Given the description of an element on the screen output the (x, y) to click on. 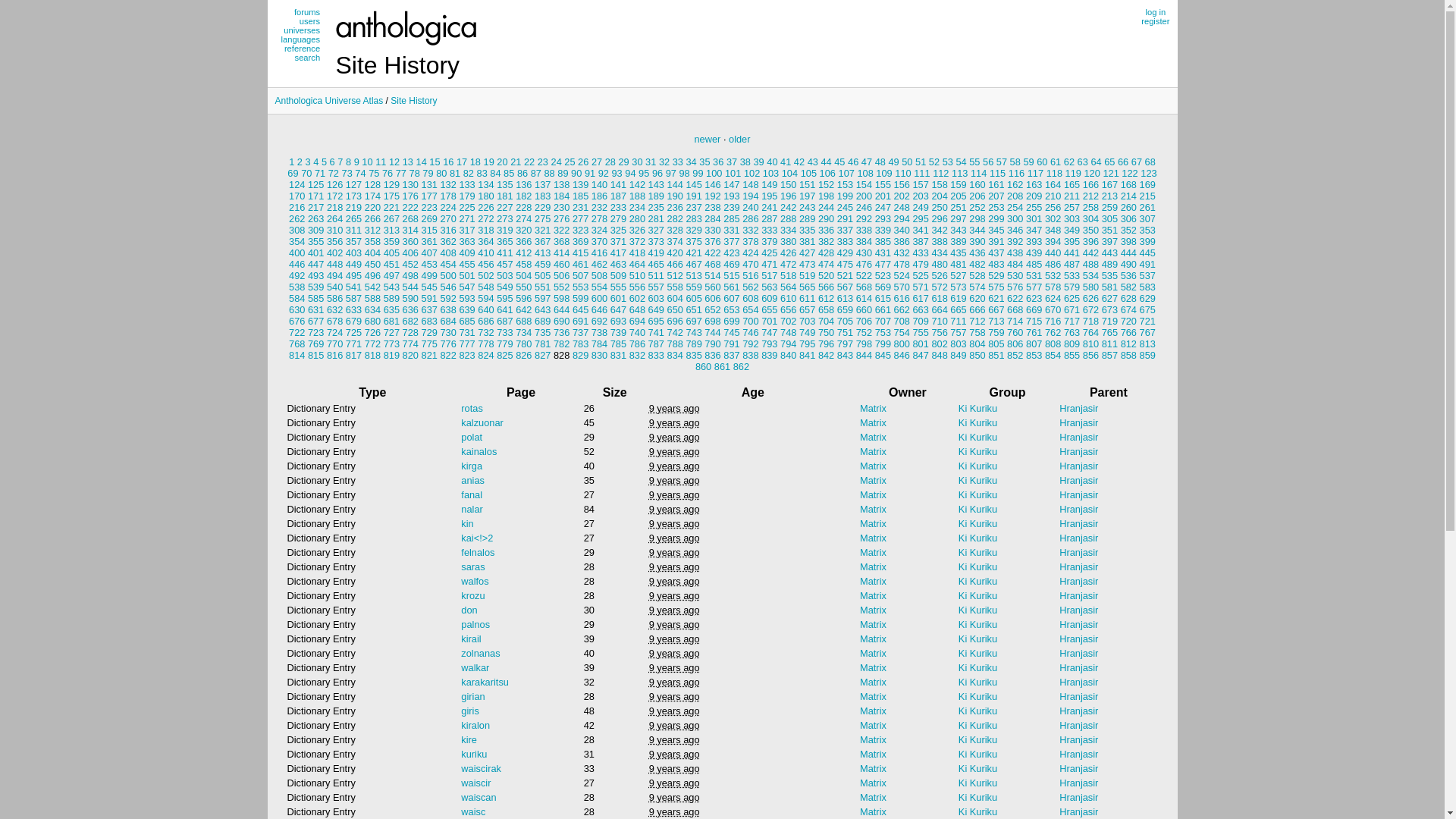
362 Element type: text (447, 241)
461 Element type: text (580, 263)
425 Element type: text (769, 252)
523 Element type: text (883, 275)
297 Element type: text (958, 218)
648 Element type: text (637, 309)
317 Element type: text (466, 229)
114 Element type: text (978, 172)
468 Element type: text (712, 263)
112 Element type: text (940, 172)
older Element type: text (738, 138)
662 Element type: text (902, 309)
264 Element type: text (334, 218)
335 Element type: text (807, 229)
nalar Element type: text (471, 508)
749 Element type: text (807, 332)
750 Element type: text (826, 332)
759 Element type: text (996, 332)
36 Element type: text (717, 161)
581 Element type: text (1109, 286)
196 Element type: text (788, 195)
780 Element type: text (523, 343)
122 Element type: text (1129, 172)
Ki Kuriku Element type: text (977, 681)
10 Element type: text (366, 161)
734 Element type: text (523, 332)
153 Element type: text (845, 184)
29 Element type: text (623, 161)
563 Element type: text (769, 286)
625 Element type: text (1071, 298)
Ki Kuriku Element type: text (977, 494)
668 Element type: text (1014, 309)
455 Element type: text (466, 263)
278 Element type: text (599, 218)
322 Element type: text (561, 229)
705 Element type: text (845, 320)
21 Element type: text (515, 161)
211 Element type: text (1071, 195)
195 Element type: text (769, 195)
4 Element type: text (315, 161)
487 Element type: text (1071, 263)
623 Element type: text (1033, 298)
156 Element type: text (902, 184)
Matrix Element type: text (872, 696)
346 Element type: text (1014, 229)
218 Element type: text (334, 207)
508 Element type: text (599, 275)
24 Element type: text (556, 161)
849 Element type: text (958, 354)
408 Element type: text (447, 252)
807 Element type: text (1033, 343)
760 Element type: text (1014, 332)
689 Element type: text (542, 320)
351 Element type: text (1109, 229)
721 Element type: text (1147, 320)
106 Element type: text (827, 172)
315 Element type: text (429, 229)
172 Element type: text (334, 195)
529 Element type: text (996, 275)
726 Element type: text (372, 332)
718 Element type: text (1090, 320)
Hranjasir Element type: text (1078, 696)
101 Element type: text (732, 172)
anias Element type: text (472, 480)
kai<!>2 Element type: text (476, 537)
606 Element type: text (712, 298)
717 Element type: text (1071, 320)
Matrix Element type: text (872, 408)
327 Element type: text (656, 229)
577 Element type: text (1033, 286)
Hranjasir Element type: text (1078, 552)
332 Element type: text (750, 229)
7 Element type: text (339, 161)
Matrix Element type: text (872, 782)
765 Element type: text (1109, 332)
355 Element type: text (315, 241)
199 Element type: text (845, 195)
824 Element type: text (485, 354)
89 Element type: text (562, 172)
316 Element type: text (447, 229)
485 Element type: text (1033, 263)
515 Element type: text (731, 275)
311 Element type: text (353, 229)
738 Element type: text (599, 332)
447 Element type: text (315, 263)
504 Element type: text (523, 275)
98 Element type: text (683, 172)
402 Element type: text (334, 252)
Matrix Element type: text (872, 566)
91 Element type: text (589, 172)
834 Element type: text (675, 354)
700 Element type: text (750, 320)
440 Element type: text (1052, 252)
506 Element type: text (561, 275)
754 Element type: text (902, 332)
687 Element type: text (504, 320)
591 Element type: text (429, 298)
363 Element type: text (466, 241)
681 Element type: text (391, 320)
Matrix Element type: text (872, 508)
Matrix Element type: text (872, 595)
326 Element type: text (637, 229)
41 Element type: text (785, 161)
491 Element type: text (1147, 263)
251 Element type: text (958, 207)
541 Element type: text (353, 286)
614 Element type: text (864, 298)
808 Element type: text (1052, 343)
313 Element type: text (391, 229)
836 Element type: text (712, 354)
458 Element type: text (523, 263)
Matrix Element type: text (872, 667)
788 Element type: text (675, 343)
183 Element type: text (542, 195)
814 Element type: text (296, 354)
616 Element type: text (902, 298)
486 Element type: text (1052, 263)
339 Element type: text (883, 229)
661 Element type: text (883, 309)
496 Element type: text (372, 275)
584 Element type: text (296, 298)
825 Element type: text (504, 354)
184 Element type: text (561, 195)
659 Element type: text (845, 309)
299 Element type: text (996, 218)
771 Element type: text (353, 343)
604 Element type: text (675, 298)
464 Element type: text (637, 263)
336 Element type: text (826, 229)
704 Element type: text (826, 320)
498 Element type: text (410, 275)
265 Element type: text (353, 218)
433 Element type: text (920, 252)
70 Element type: text (306, 172)
482 Element type: text (977, 263)
476 Element type: text (864, 263)
848 Element type: text (939, 354)
438 Element type: text (1014, 252)
739 Element type: text (618, 332)
39 Element type: text (758, 161)
844 Element type: text (864, 354)
314 Element type: text (410, 229)
815 Element type: text (315, 354)
631 Element type: text (315, 309)
232 Element type: text (599, 207)
732 Element type: text (485, 332)
95 Element type: text (643, 172)
671 Element type: text (1071, 309)
352 Element type: text (1128, 229)
68 Element type: text (1150, 161)
501 Element type: text (466, 275)
763 Element type: text (1071, 332)
645 Element type: text (580, 309)
380 Element type: text (788, 241)
459 Element type: text (542, 263)
698 Element type: text (712, 320)
209 Element type: text (1033, 195)
318 Element type: text (485, 229)
169 Element type: text (1147, 184)
69 Element type: text (292, 172)
255 Element type: text (1033, 207)
Hranjasir Element type: text (1078, 523)
kire Element type: text (468, 739)
palnos Element type: text (475, 624)
766 Element type: text (1128, 332)
411 Element type: text (504, 252)
543 Element type: text (391, 286)
481 Element type: text (958, 263)
724 Element type: text (334, 332)
534 Element type: text (1090, 275)
675 Element type: text (1147, 309)
367 Element type: text (542, 241)
84 Element type: text (494, 172)
137 Element type: text (542, 184)
276 Element type: text (561, 218)
Hranjasir Element type: text (1078, 667)
273 Element type: text (504, 218)
702 Element type: text (788, 320)
304 Element type: text (1090, 218)
kuriku Element type: text (473, 753)
25 Element type: text (569, 161)
643 Element type: text (542, 309)
791 Element type: text (731, 343)
434 Element type: text (939, 252)
388 Element type: text (939, 241)
Hranjasir Element type: text (1078, 753)
163 Element type: text (1033, 184)
758 Element type: text (977, 332)
688 Element type: text (523, 320)
60 Element type: text (1041, 161)
342 Element type: text (939, 229)
246 Element type: text (864, 207)
664 Element type: text (939, 309)
696 Element type: text (675, 320)
672 Element type: text (1090, 309)
746 Element type: text (750, 332)
862 Element type: text (741, 366)
466 Element type: text (675, 263)
Hranjasir Element type: text (1078, 465)
188 Element type: text (637, 195)
852 Element type: text (1014, 354)
309 Element type: text (315, 229)
588 Element type: text (372, 298)
741 Element type: text (656, 332)
120 Element type: text (1092, 172)
838 Element type: text (750, 354)
203 Element type: text (920, 195)
790 Element type: text (712, 343)
11 Element type: text (380, 161)
210 Element type: text (1052, 195)
684 Element type: text (447, 320)
Hranjasir Element type: text (1078, 566)
691 Element type: text (580, 320)
262 Element type: text (296, 218)
822 Element type: text (447, 354)
103 Element type: text (770, 172)
119 Element type: text (1073, 172)
483 Element type: text (996, 263)
559 Element type: text (693, 286)
651 Element type: text (693, 309)
Hranjasir Element type: text (1078, 638)
301 Element type: text (1033, 218)
44 Element type: text (825, 161)
560 Element type: text (712, 286)
282 Element type: text (675, 218)
87 Element type: text (535, 172)
748 Element type: text (788, 332)
152 Element type: text (826, 184)
247 Element type: text (883, 207)
182 Element type: text (523, 195)
320 Element type: text (523, 229)
201 Element type: text (883, 195)
307 Element type: text (1147, 218)
401 Element type: text (315, 252)
121 Element type: text (1110, 172)
610 Element type: text (788, 298)
703 Element type: text (807, 320)
giris Element type: text (469, 710)
118 Element type: text (1054, 172)
737 Element type: text (580, 332)
633 Element type: text (353, 309)
599 Element type: text (580, 298)
829 Element type: text (580, 354)
499 Element type: text (429, 275)
539 Element type: text (315, 286)
800 Element type: text (902, 343)
274 Element type: text (523, 218)
592 Element type: text (447, 298)
Hranjasir Element type: text (1078, 436)
258 Element type: text (1090, 207)
Ki Kuriku Element type: text (977, 797)
709 Element type: text (920, 320)
545 Element type: text (429, 286)
456 Element type: text (485, 263)
356 Element type: text (334, 241)
742 Element type: text (675, 332)
629 Element type: text (1147, 298)
670 Element type: text (1052, 309)
769 Element type: text (315, 343)
71 Element type: text (319, 172)
803 Element type: text (958, 343)
391 Element type: text (996, 241)
136 Element type: text (523, 184)
86 Element type: text (522, 172)
229 Element type: text (542, 207)
Ki Kuriku Element type: text (977, 508)
403 Element type: text (353, 252)
652 Element type: text (712, 309)
413 Element type: text (542, 252)
154 Element type: text (864, 184)
658 Element type: text (826, 309)
774 Element type: text (410, 343)
220 Element type: text (372, 207)
589 Element type: text (391, 298)
608 Element type: text (750, 298)
158 Element type: text (939, 184)
51 Element type: text (920, 161)
729 Element type: text (429, 332)
191 Element type: text (693, 195)
366 Element type: text (523, 241)
730 Element type: text (447, 332)
271 Element type: text (466, 218)
244 Element type: text (826, 207)
27 Element type: text (596, 161)
reference Element type: text (300, 48)
644 Element type: text (561, 309)
728 Element type: text (410, 332)
277 Element type: text (580, 218)
624 Element type: text (1052, 298)
595 Element type: text (504, 298)
418 Element type: text (637, 252)
632 Element type: text (334, 309)
796 Element type: text (826, 343)
390 Element type: text (977, 241)
372 Element type: text (637, 241)
467 Element type: text (693, 263)
837 Element type: text (731, 354)
82 Element type: text (468, 172)
126 Element type: text (334, 184)
419 Element type: text (656, 252)
217 Element type: text (315, 207)
14 Element type: text (421, 161)
622 Element type: text (1014, 298)
323 Element type: text (580, 229)
410 Element type: text (485, 252)
290 Element type: text (826, 218)
805 Element type: text (996, 343)
Hranjasir Element type: text (1078, 739)
Matrix Element type: text (872, 768)
144 Element type: text (675, 184)
walkar Element type: text (475, 667)
257 Element type: text (1071, 207)
214 Element type: text (1128, 195)
kirga Element type: text (471, 465)
358 Element type: text (372, 241)
549 Element type: text (504, 286)
460 Element type: text (561, 263)
Matrix Element type: text (872, 681)
647 Element type: text (618, 309)
699 Element type: text (731, 320)
789 Element type: text (693, 343)
38 Element type: text (745, 161)
436 Element type: text (977, 252)
164 Element type: text (1052, 184)
231 Element type: text (580, 207)
551 Element type: text (542, 286)
430 Element type: text (864, 252)
users Element type: text (300, 20)
saras Element type: text (472, 566)
782 Element type: text (561, 343)
635 Element type: text (391, 309)
414 Element type: text (561, 252)
364 Element type: text (485, 241)
Ki Kuriku Element type: text (977, 451)
216 Element type: text (296, 207)
505 Element type: text (542, 275)
513 Element type: text (693, 275)
198 Element type: text (826, 195)
830 Element type: text (599, 354)
519 Element type: text (807, 275)
621 Element type: text (996, 298)
701 Element type: text (769, 320)
116 Element type: text (1016, 172)
8 Element type: text (348, 161)
23 Element type: text (542, 161)
794 Element type: text (788, 343)
428 Element type: text (826, 252)
663 Element type: text (920, 309)
548 Element type: text (485, 286)
540 Element type: text (334, 286)
641 Element type: text (504, 309)
565 Element type: text (807, 286)
344 Element type: text (977, 229)
532 Element type: text (1052, 275)
212 Element type: text (1090, 195)
13 Element type: text (407, 161)
715 Element type: text (1033, 320)
Matrix Element type: text (872, 710)
338 Element type: text (864, 229)
227 Element type: text (504, 207)
Matrix Element type: text (872, 811)
Ki Kuriku Element type: text (977, 480)
576 Element type: text (1014, 286)
639 Element type: text (466, 309)
293 Element type: text (883, 218)
305 Element type: text (1109, 218)
register Element type: text (1155, 20)
375 Element type: text (693, 241)
552 Element type: text (561, 286)
Ki Kuriku Element type: text (977, 782)
135 Element type: text (504, 184)
630 Element type: text (296, 309)
149 Element type: text (769, 184)
Ki Kuriku Element type: text (977, 552)
856 Element type: text (1090, 354)
666 Element type: text (977, 309)
854 Element type: text (1052, 354)
18 Element type: text (475, 161)
443 Element type: text (1109, 252)
404 Element type: text (372, 252)
469 Element type: text (731, 263)
711 Element type: text (958, 320)
284 Element type: text (712, 218)
792 Element type: text (750, 343)
321 Element type: text (542, 229)
799 Element type: text (883, 343)
609 Element type: text (769, 298)
Matrix Element type: text (872, 652)
392 Element type: text (1014, 241)
708 Element type: text (902, 320)
100 Element type: text (713, 172)
Ki Kuriku Element type: text (977, 580)
160 Element type: text (977, 184)
527 Element type: text (958, 275)
200 Element type: text (864, 195)
340 Element type: text (902, 229)
554 Element type: text (599, 286)
Site History Element type: text (413, 100)
374 Element type: text (675, 241)
16 Element type: text (447, 161)
531 Element type: text (1033, 275)
kalzuonar Element type: text (482, 422)
241 Element type: text (769, 207)
3 Element type: text (307, 161)
newer Element type: text (707, 138)
812 Element type: text (1128, 343)
826 Element type: text (523, 354)
439 Element type: text (1033, 252)
802 Element type: text (939, 343)
213 Element type: text (1109, 195)
waiscir Element type: text (475, 782)
search Element type: text (300, 57)
556 Element type: text (637, 286)
75 Element type: text (373, 172)
88 Element type: text (549, 172)
Hranjasir Element type: text (1078, 451)
537 Element type: text (1147, 275)
471 Element type: text (769, 263)
127 Element type: text (353, 184)
115 Element type: text (997, 172)
110 Element type: text (902, 172)
250 Element type: text (939, 207)
230 Element type: text (561, 207)
450 Element type: text (372, 263)
319 Element type: text (504, 229)
Hranjasir Element type: text (1078, 624)
840 Element type: text (788, 354)
755 Element type: text (920, 332)
128 Element type: text (372, 184)
757 Element type: text (958, 332)
226 Element type: text (485, 207)
781 Element type: text (542, 343)
280 Element type: text (637, 218)
558 Element type: text (675, 286)
360 Element type: text (410, 241)
512 Element type: text (675, 275)
kiralon Element type: text (475, 725)
Ki Kuriku Element type: text (977, 696)
49 Element type: text (893, 161)
657 Element type: text (807, 309)
677 Element type: text (315, 320)
570 Element type: text (902, 286)
267 Element type: text (391, 218)
572 Element type: text (939, 286)
389 Element type: text (958, 241)
54 Element type: text (960, 161)
756 Element type: text (939, 332)
384 Element type: text (864, 241)
773 Element type: text (391, 343)
175 Element type: text (391, 195)
33 Element type: text (677, 161)
204 Element type: text (939, 195)
518 Element type: text (788, 275)
308 Element type: text (296, 229)
370 Element type: text (599, 241)
357 Element type: text (353, 241)
574 Element type: text (977, 286)
785 Element type: text (618, 343)
850 Element type: text (977, 354)
Hranjasir Element type: text (1078, 652)
312 Element type: text (372, 229)
35 Element type: text (704, 161)
857 Element type: text (1109, 354)
473 Element type: text (807, 263)
764 Element type: text (1090, 332)
777 Element type: text (466, 343)
685 Element type: text (466, 320)
525 Element type: text (920, 275)
855 Element type: text (1071, 354)
710 Element type: text (939, 320)
751 Element type: text (845, 332)
842 Element type: text (826, 354)
334 Element type: text (788, 229)
languages Element type: text (300, 38)
786 Element type: text (637, 343)
Hranjasir Element type: text (1078, 480)
42 Element type: text (798, 161)
678 Element type: text (334, 320)
526 Element type: text (939, 275)
798 Element type: text (864, 343)
833 Element type: text (656, 354)
422 Element type: text (712, 252)
Hranjasir Element type: text (1078, 494)
Matrix Element type: text (872, 537)
522 Element type: text (864, 275)
488 Element type: text (1090, 263)
601 Element type: text (618, 298)
343 Element type: text (958, 229)
489 Element type: text (1109, 263)
449 Element type: text (353, 263)
832 Element type: text (637, 354)
547 Element type: text (466, 286)
237 Element type: text (693, 207)
530 Element type: text (1014, 275)
295 Element type: text (920, 218)
381 Element type: text (807, 241)
159 Element type: text (958, 184)
147 Element type: text (731, 184)
720 Element type: text (1128, 320)
538 Element type: text (296, 286)
131 Element type: text (429, 184)
286 Element type: text (750, 218)
Ki Kuriku Element type: text (977, 422)
330 Element type: text (712, 229)
249 Element type: text (920, 207)
520 Element type: text (826, 275)
133 Element type: text (466, 184)
776 Element type: text (447, 343)
303 Element type: text (1071, 218)
Ki Kuriku Element type: text (977, 652)
Matrix Element type: text (872, 552)
517 Element type: text (769, 275)
92 Element type: text (603, 172)
557 Element type: text (656, 286)
2 Element type: text (299, 161)
37 Element type: text (731, 161)
107 Element type: text (846, 172)
254 Element type: text (1014, 207)
412 Element type: text (523, 252)
90 Element type: text (576, 172)
669 Element type: text (1033, 309)
53 Element type: text (947, 161)
383 Element type: text (845, 241)
17 Element type: text (461, 161)
Matrix Element type: text (872, 624)
397 Element type: text (1109, 241)
676 Element type: text (296, 320)
189 Element type: text (656, 195)
221 Element type: text (391, 207)
435 Element type: text (958, 252)
Hranjasir Element type: text (1078, 580)
94 Element type: text (629, 172)
Ki Kuriku Element type: text (977, 436)
524 Element type: text (902, 275)
820 Element type: text (410, 354)
324 Element type: text (599, 229)
rotas Element type: text (471, 408)
620 Element type: text (977, 298)
57 Element type: text (1001, 161)
580 Element type: text (1090, 286)
484 Element type: text (1014, 263)
universes Element type: text (300, 29)
197 Element type: text (807, 195)
79 Element type: text (427, 172)
124 Element type: text (296, 184)
167 Element type: text (1109, 184)
Ki Kuriku Element type: text (977, 667)
646 Element type: text (599, 309)
Matrix Element type: text (872, 725)
475 Element type: text (845, 263)
493 Element type: text (315, 275)
78 Element type: text (414, 172)
745 Element type: text (731, 332)
596 Element type: text (523, 298)
235 Element type: text (656, 207)
155 Element type: text (883, 184)
607 Element type: text (731, 298)
859 Element type: text (1147, 354)
52 Element type: text (933, 161)
275 Element type: text (542, 218)
111 Element type: text (921, 172)
Hranjasir Element type: text (1078, 595)
423 Element type: text (731, 252)
575 Element type: text (996, 286)
Hranjasir Element type: text (1078, 681)
170 Element type: text (296, 195)
470 Element type: text (750, 263)
56 Element type: text (987, 161)
692 Element type: text (599, 320)
444 Element type: text (1128, 252)
256 Element type: text (1052, 207)
261 Element type: text (1147, 207)
354 Element type: text (296, 241)
772 Element type: text (372, 343)
125 Element type: text (315, 184)
350 Element type: text (1090, 229)
Matrix Element type: text (872, 422)
673 Element type: text (1109, 309)
514 Element type: text (712, 275)
441 Element type: text (1071, 252)
97 Element type: text (670, 172)
429 Element type: text (845, 252)
801 Element type: text (920, 343)
Matrix Element type: text (872, 580)
62 Element type: text (1068, 161)
821 Element type: text (429, 354)
613 Element type: text (845, 298)
46 Element type: text (852, 161)
285 Element type: text (731, 218)
117 Element type: text (1035, 172)
420 Element type: text (675, 252)
93 Element type: text (616, 172)
841 Element type: text (807, 354)
528 Element type: text (977, 275)
felnalos Element type: text (477, 552)
45 Element type: text (839, 161)
655 Element type: text (769, 309)
260 Element type: text (1128, 207)
831 Element type: text (618, 354)
Matrix Element type: text (872, 609)
208 Element type: text (1014, 195)
26 Element type: text (582, 161)
722 Element type: text (296, 332)
451 Element type: text (391, 263)
667 Element type: text (996, 309)
735 Element type: text (542, 332)
294 Element type: text (902, 218)
502 Element type: text (485, 275)
736 Element type: text (561, 332)
252 Element type: text (977, 207)
166 Element type: text (1090, 184)
743 Element type: text (693, 332)
150 Element type: text (788, 184)
242 Element type: text (788, 207)
140 Element type: text (599, 184)
421 Element type: text (693, 252)
851 Element type: text (996, 354)
Hranjasir Element type: text (1078, 508)
823 Element type: text (466, 354)
178 Element type: text (447, 195)
345 Element type: text (996, 229)
287 Element type: text (769, 218)
368 Element type: text (561, 241)
452 Element type: text (410, 263)
546 Element type: text (447, 286)
611 Element type: text (807, 298)
Ki Kuriku Element type: text (977, 725)
431 Element type: text (883, 252)
448 Element type: text (334, 263)
379 Element type: text (769, 241)
835 Element type: text (693, 354)
566 Element type: text (826, 286)
108 Element type: text (864, 172)
171 Element type: text (315, 195)
180 Element type: text (485, 195)
83 Element type: text (481, 172)
426 Element type: text (788, 252)
409 Element type: text (466, 252)
248 Element type: text (902, 207)
382 Element type: text (826, 241)
139 Element type: text (580, 184)
853 Element type: text (1033, 354)
649 Element type: text (656, 309)
424 Element type: text (750, 252)
Hranjasir Element type: text (1078, 422)
19 Element type: text (488, 161)
385 Element type: text (883, 241)
809 Element type: text (1071, 343)
674 Element type: text (1128, 309)
544 Element type: text (410, 286)
567 Element type: text (845, 286)
495 Element type: text (353, 275)
176 Element type: text (410, 195)
331 Element type: text (731, 229)
628 Element type: text (1128, 298)
516 Element type: text (750, 275)
598 Element type: text (561, 298)
731 Element type: text (466, 332)
202 Element type: text (902, 195)
474 Element type: text (826, 263)
497 Element type: text (391, 275)
427 Element type: text (807, 252)
779 Element type: text (504, 343)
109 Element type: text (883, 172)
341 Element type: text (920, 229)
205 Element type: text (958, 195)
694 Element type: text (637, 320)
222 Element type: text (410, 207)
690 Element type: text (561, 320)
don Element type: text (468, 609)
76 Element type: text (387, 172)
813 Element type: text (1147, 343)
442 Element type: text (1090, 252)
9 Element type: text (356, 161)
325 Element type: text (618, 229)
752 Element type: text (864, 332)
28 Element type: text (610, 161)
406 Element type: text (410, 252)
146 Element type: text (712, 184)
775 Element type: text (429, 343)
858 Element type: text (1128, 354)
386 Element type: text (902, 241)
5 Element type: text (323, 161)
679 Element type: text (353, 320)
298 Element type: text (977, 218)
395 Element type: text (1071, 241)
665 Element type: text (958, 309)
Ki Kuriku Element type: text (977, 537)
6 Element type: text (332, 161)
432 Element type: text (902, 252)
zolnanas Element type: text (480, 652)
564 Element type: text (788, 286)
206 Element type: text (977, 195)
618 Element type: text (939, 298)
138 Element type: text (561, 184)
806 Element type: text (1014, 343)
Hranjasir Element type: text (1078, 609)
269 Element type: text (429, 218)
145 Element type: text (693, 184)
371 Element type: text (618, 241)
656 Element type: text (788, 309)
405 Element type: text (391, 252)
karakaritsu Element type: text (484, 681)
74 Element type: text (359, 172)
263 Element type: text (315, 218)
32 Element type: text (663, 161)
400 Element type: text (296, 252)
43 Element type: text (812, 161)
533 Element type: text (1071, 275)
846 Element type: text (902, 354)
310 Element type: text (334, 229)
636 Element type: text (410, 309)
fanal Element type: text (471, 494)
713 Element type: text (996, 320)
725 Element type: text (353, 332)
683 Element type: text (429, 320)
65 Element type: text (1109, 161)
768 Element type: text (296, 343)
104 Element type: text (789, 172)
797 Element type: text (845, 343)
233 Element type: text (618, 207)
399 Element type: text (1147, 241)
181 Element type: text (504, 195)
272 Element type: text (485, 218)
48 Element type: text (880, 161)
553 Element type: text (580, 286)
193 Element type: text (731, 195)
682 Element type: text (410, 320)
716 Element type: text (1052, 320)
582 Element type: text (1128, 286)
kin Element type: text (467, 523)
waiscan Element type: text (478, 797)
804 Element type: text (977, 343)
185 Element type: text (580, 195)
767 Element type: text (1147, 332)
129 Element type: text (391, 184)
511 Element type: text (656, 275)
270 Element type: text (447, 218)
783 Element type: text (580, 343)
619 Element type: text (958, 298)
girian Element type: text (472, 696)
627 Element type: text (1109, 298)
593 Element type: text (466, 298)
102 Element type: text (751, 172)
63 Element type: text (1082, 161)
617 Element type: text (920, 298)
562 Element type: text (750, 286)
190 Element type: text (675, 195)
634 Element type: text (372, 309)
245 Element type: text (845, 207)
123 Element type: text (1148, 172)
143 Element type: text (656, 184)
695 Element type: text (656, 320)
Hranjasir Element type: text (1078, 408)
586 Element type: text (334, 298)
712 Element type: text (977, 320)
Ki Kuriku Element type: text (977, 408)
660 Element type: text (864, 309)
578 Element type: text (1052, 286)
Ki Kuriku Element type: text (977, 811)
306 Element type: text (1128, 218)
105 Element type: text (808, 172)
59 Element type: text (1027, 161)
359 Element type: text (391, 241)
536 Element type: text (1128, 275)
Matrix Element type: text (872, 797)
292 Element type: text (864, 218)
612 Element type: text (826, 298)
521 Element type: text (845, 275)
778 Element type: text (485, 343)
61 Element type: text (1055, 161)
281 Element type: text (656, 218)
727 Element type: text (391, 332)
860 Element type: text (703, 366)
Ki Kuriku Element type: text (977, 768)
Anthologica Universe Atlas Element type: text (328, 100)
64 Element type: text (1095, 161)
747 Element type: text (769, 332)
Matrix Element type: text (872, 739)
568 Element type: text (864, 286)
847 Element type: text (920, 354)
12 Element type: text (394, 161)
228 Element type: text (523, 207)
602 Element type: text (637, 298)
Ki Kuriku Element type: text (977, 465)
396 Element type: text (1090, 241)
243 Element type: text (807, 207)
22 Element type: text (529, 161)
forums Element type: text (300, 11)
594 Element type: text (485, 298)
157 Element type: text (920, 184)
288 Element type: text (788, 218)
polat Element type: text (471, 436)
77 Element type: text (400, 172)
463 Element type: text (618, 263)
457 Element type: text (504, 263)
637 Element type: text (429, 309)
465 Element type: text (656, 263)
706 Element type: text (864, 320)
638 Element type: text (447, 309)
376 Element type: text (712, 241)
446 Element type: text (296, 263)
240 Element type: text (750, 207)
733 Element type: text (504, 332)
680 Element type: text (372, 320)
571 Element type: text (920, 286)
141 Element type: text (618, 184)
787 Element type: text (656, 343)
590 Element type: text (410, 298)
398 Element type: text (1128, 241)
kainalos Element type: text (478, 451)
72 Element type: text (333, 172)
174 Element type: text (372, 195)
811 Element type: text (1109, 343)
Hranjasir Element type: text (1078, 725)
861 Element type: text (722, 366)
714 Element type: text (1014, 320)
640 Element type: text (485, 309)
453 Element type: text (429, 263)
Hranjasir Element type: text (1078, 768)
Hranjasir Element type: text (1078, 782)
259 Element type: text (1109, 207)
266 Element type: text (372, 218)
535 Element type: text (1109, 275)
Ki Kuriku Element type: text (977, 624)
479 Element type: text (920, 263)
168 Element type: text (1128, 184)
550 Element type: text (523, 286)
krozu Element type: text (472, 595)
Matrix Element type: text (872, 753)
20 Element type: text (501, 161)
579 Element type: text (1071, 286)
509 Element type: text (618, 275)
378 Element type: text (750, 241)
723 Element type: text (315, 332)
347 Element type: text (1033, 229)
Matrix Element type: text (872, 480)
47 Element type: text (866, 161)
239 Element type: text (731, 207)
762 Element type: text (1052, 332)
839 Element type: text (769, 354)
707 Element type: text (883, 320)
393 Element type: text (1033, 241)
462 Element type: text (599, 263)
587 Element type: text (353, 298)
40 Element type: text (771, 161)
719 Element type: text (1109, 320)
490 Element type: text (1128, 263)
130 Element type: text (410, 184)
740 Element type: text (637, 332)
Ki Kuriku Element type: text (977, 523)
Ki Kuriku Element type: text (977, 566)
132 Element type: text (447, 184)
165 Element type: text (1071, 184)
503 Element type: text (504, 275)
654 Element type: text (750, 309)
445 Element type: text (1147, 252)
66 Element type: text (1122, 161)
Matrix Element type: text (872, 451)
302 Element type: text (1052, 218)
151 Element type: text (807, 184)
795 Element type: text (807, 343)
194 Element type: text (750, 195)
510 Element type: text (637, 275)
Ki Kuriku Element type: text (977, 753)
407 Element type: text (429, 252)
569 Element type: text (883, 286)
845 Element type: text (883, 354)
585 Element type: text (315, 298)
224 Element type: text (447, 207)
626 Element type: text (1090, 298)
329 Element type: text (693, 229)
253 Element type: text (996, 207)
Hranjasir Element type: text (1078, 710)
770 Element type: text (334, 343)
753 Element type: text (883, 332)
686 Element type: text (485, 320)
30 Element type: text (636, 161)
58 Element type: text (1015, 161)
Ki Kuriku Element type: text (977, 710)
561 Element type: text (731, 286)
Ki Kuriku Element type: text (977, 595)
600 Element type: text (599, 298)
waiscirak Element type: text (481, 768)
819 Element type: text (391, 354)
log in Element type: text (1155, 11)
817 Element type: text (353, 354)
573 Element type: text (958, 286)
Hranjasir Element type: text (1078, 537)
291 Element type: text (845, 218)
1 Element type: text (291, 161)
215 Element type: text (1147, 195)
192 Element type: text (712, 195)
761 Element type: text (1033, 332)
283 Element type: text (693, 218)
369 Element type: text (580, 241)
642 Element type: text (523, 309)
96 Element type: text (657, 172)
177 Element type: text (429, 195)
67 Element type: text (1136, 161)
Matrix Element type: text (872, 465)
kirail Element type: text (470, 638)
50 Element type: text (906, 161)
348 Element type: text (1052, 229)
179 Element type: text (466, 195)
268 Element type: text (410, 218)
238 Element type: text (712, 207)
207 Element type: text (996, 195)
walfos Element type: text (474, 580)
279 Element type: text (618, 218)
555 Element type: text (618, 286)
394 Element type: text (1052, 241)
494 Element type: text (334, 275)
Matrix Element type: text (872, 494)
Matrix Element type: text (872, 523)
693 Element type: text (618, 320)
223 Element type: text (429, 207)
333 Element type: text (769, 229)
Matrix Element type: text (872, 638)
603 Element type: text (656, 298)
793 Element type: text (769, 343)
373 Element type: text (656, 241)
219 Element type: text (353, 207)
134 Element type: text (485, 184)
507 Element type: text (580, 275)
697 Element type: text (693, 320)
234 Element type: text (637, 207)
296 Element type: text (939, 218)
492 Element type: text (296, 275)
161 Element type: text (996, 184)
34 Element type: text (690, 161)
500 Element type: text (447, 275)
415 Element type: text (580, 252)
650 Element type: text (675, 309)
81 Element type: text (454, 172)
387 Element type: text (920, 241)
653 Element type: text (731, 309)
583 Element type: text (1147, 286)
225 Element type: text (466, 207)
142 Element type: text (637, 184)
Hranjasir Element type: text (1078, 811)
55 Element type: text (974, 161)
337 Element type: text (845, 229)
437 Element type: text (996, 252)
waisc Element type: text (473, 811)
816 Element type: text (334, 354)
416 Element type: text (599, 252)
417 Element type: text (618, 252)
827 Element type: text (542, 354)
Matrix Element type: text (872, 436)
353 Element type: text (1147, 229)
349 Element type: text (1071, 229)
472 Element type: text (788, 263)
843 Element type: text (845, 354)
Ki Kuriku Element type: text (977, 638)
85 Element type: text (508, 172)
Ki Kuriku Element type: text (977, 739)
478 Element type: text (902, 263)
365 Element type: text (504, 241)
80 Element type: text (441, 172)
361 Element type: text (429, 241)
597 Element type: text (542, 298)
173 Element type: text (353, 195)
289 Element type: text (807, 218)
15 Element type: text (434, 161)
605 Element type: text (693, 298)
186 Element type: text (599, 195)
810 Element type: text (1090, 343)
113 Element type: text (959, 172)
744 Element type: text (712, 332)
Hranjasir Element type: text (1078, 797)
236 Element type: text (675, 207)
477 Element type: text (883, 263)
542 Element type: text (372, 286)
Ki Kuriku Element type: text (977, 609)
454 Element type: text (447, 263)
818 Element type: text (372, 354)
148 Element type: text (750, 184)
784 Element type: text (599, 343)
300 Element type: text (1014, 218)
187 Element type: text (618, 195)
73 Element type: text (347, 172)
377 Element type: text (731, 241)
615 Element type: text (883, 298)
99 Element type: text (697, 172)
31 Element type: text (650, 161)
162 Element type: text (1014, 184)
480 Element type: text (939, 263)
328 Element type: text (675, 229)
